Given the description of an element on the screen output the (x, y) to click on. 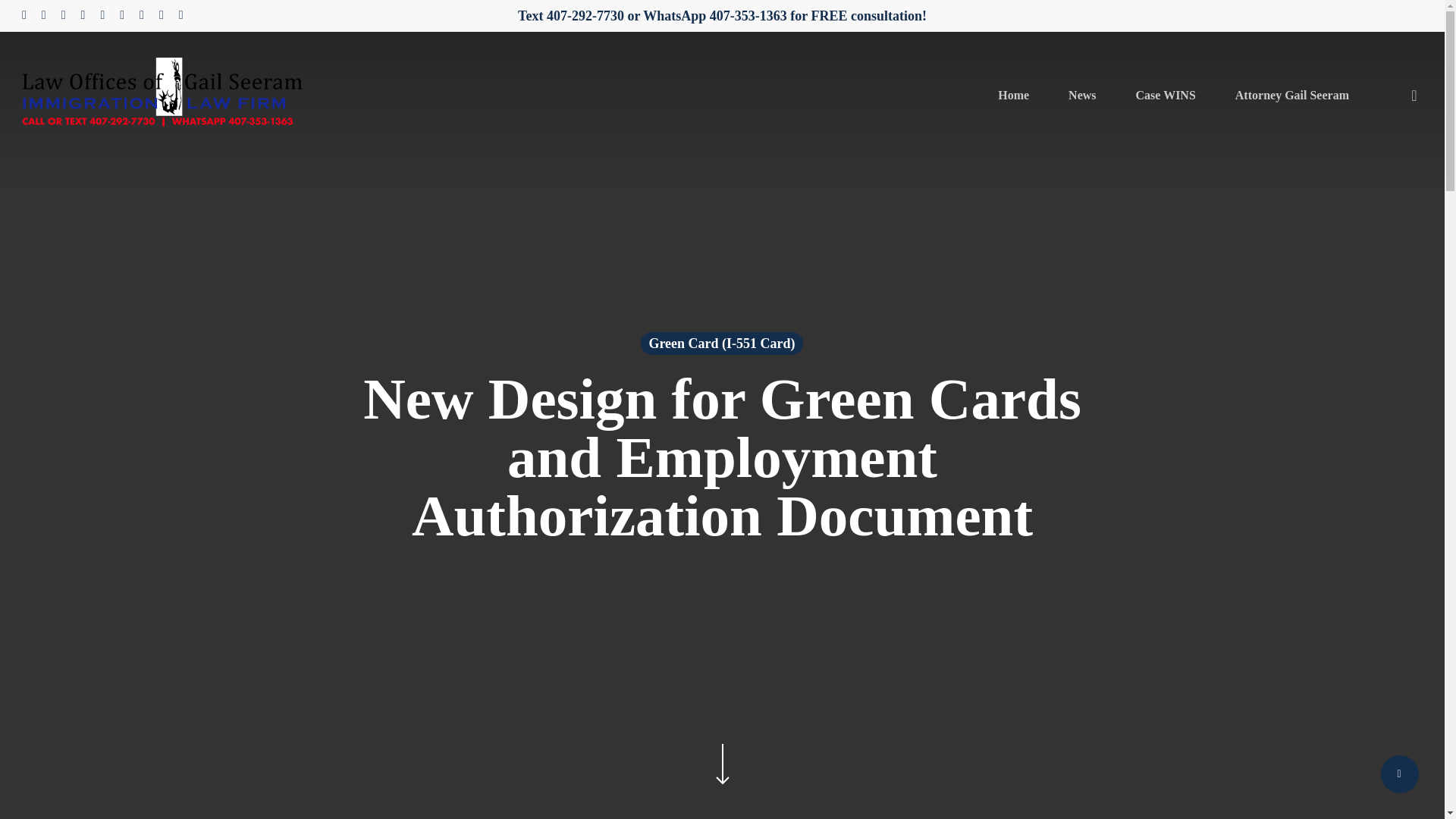
News (1082, 95)
Attorney Gail Seeram (1291, 95)
Home (1013, 95)
Case WINS (1165, 95)
search (1414, 95)
